Given the description of an element on the screen output the (x, y) to click on. 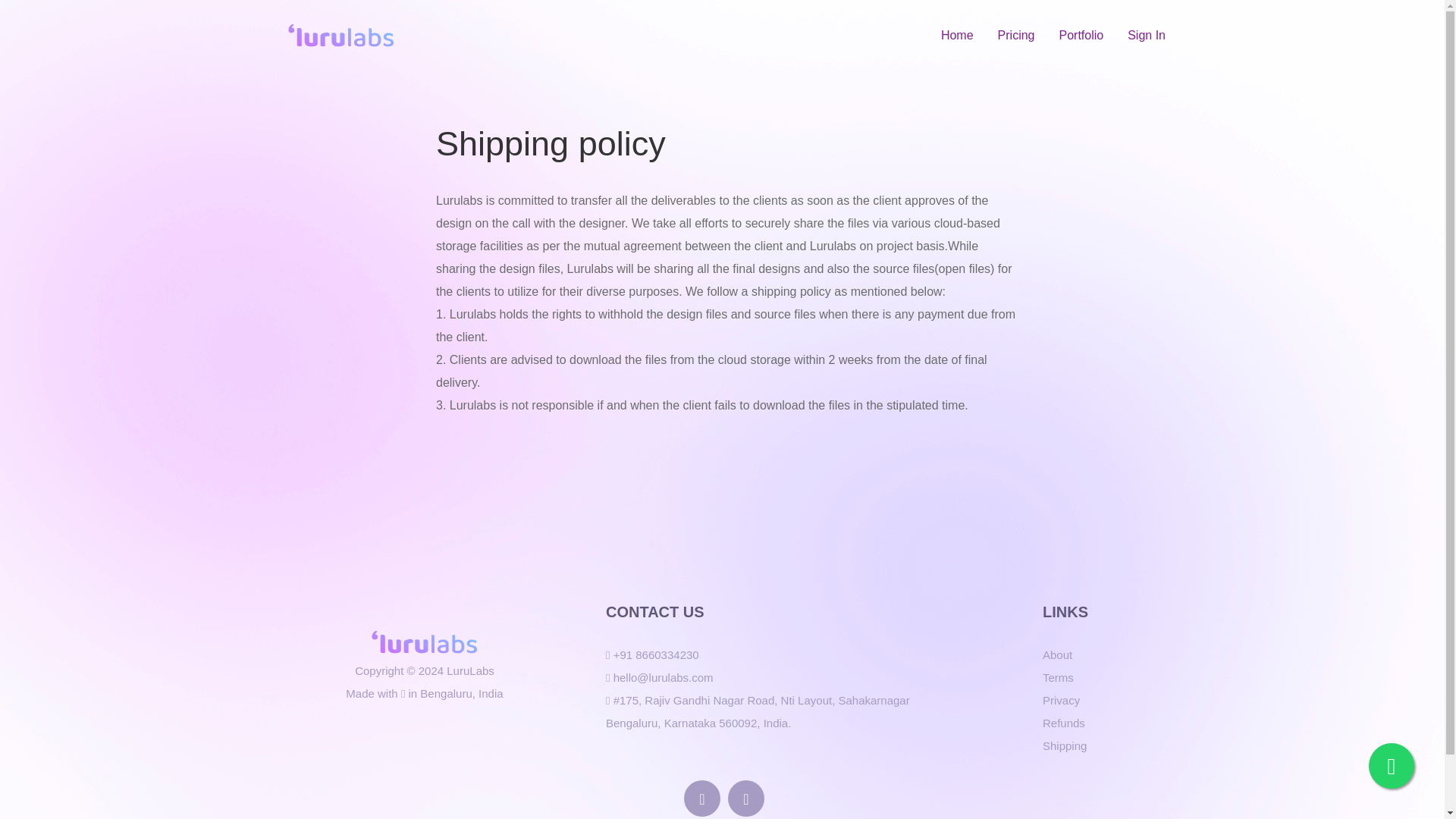
Home (956, 35)
Portfolio (1080, 35)
Pricing (1016, 35)
Terms (1058, 677)
Privacy (1061, 700)
Sign In (1146, 35)
About (1056, 654)
Refunds (1063, 722)
Shipping (1064, 745)
